Given the description of an element on the screen output the (x, y) to click on. 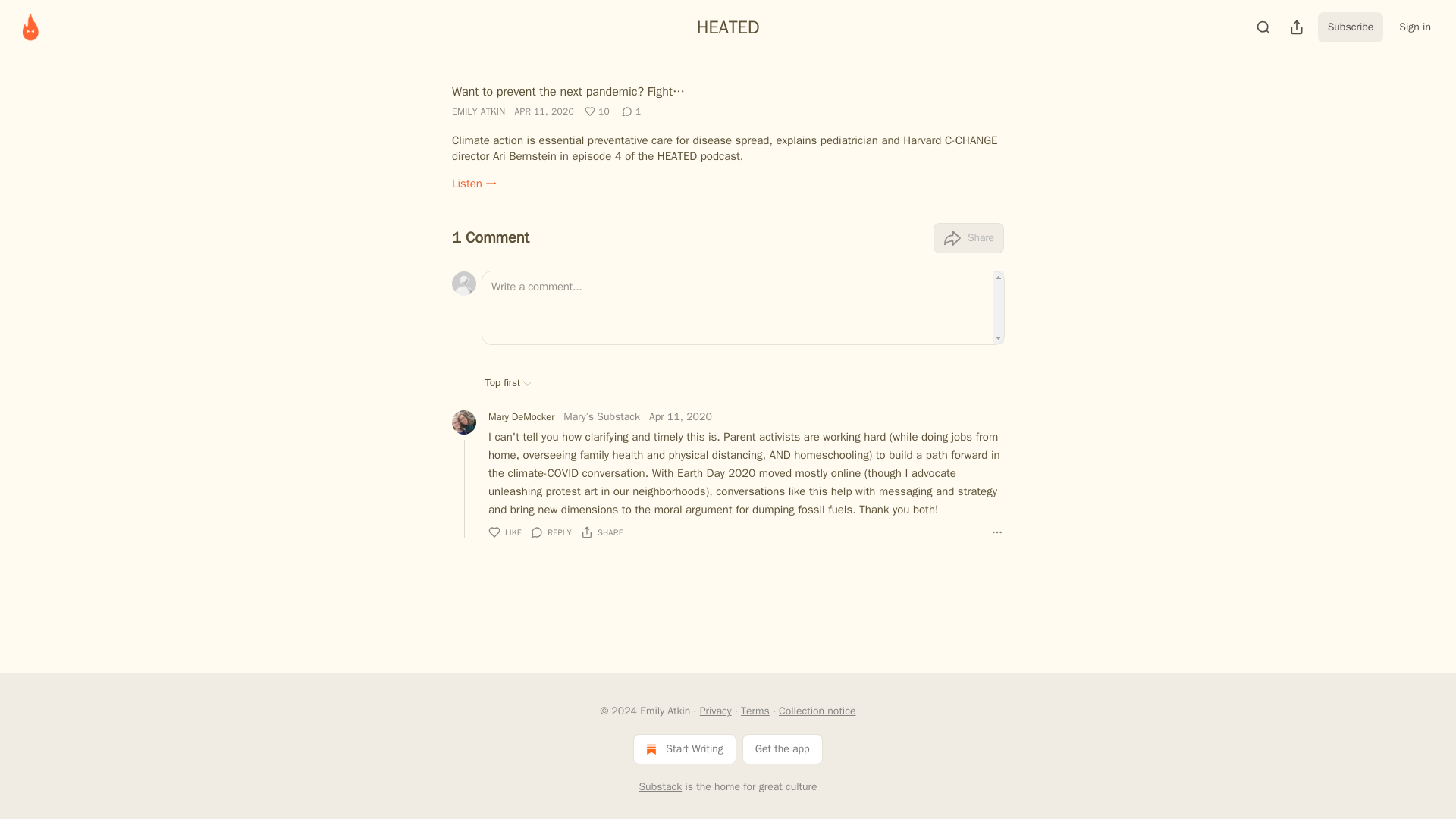
Share (968, 237)
Top first (507, 382)
Apr 11, 2020 (680, 417)
REPLY (551, 531)
Subscribe (1350, 27)
Mary DeMocker (520, 417)
Privacy (716, 710)
Start Writing (684, 748)
EMILY ATKIN (478, 111)
LIKE (504, 531)
